Given the description of an element on the screen output the (x, y) to click on. 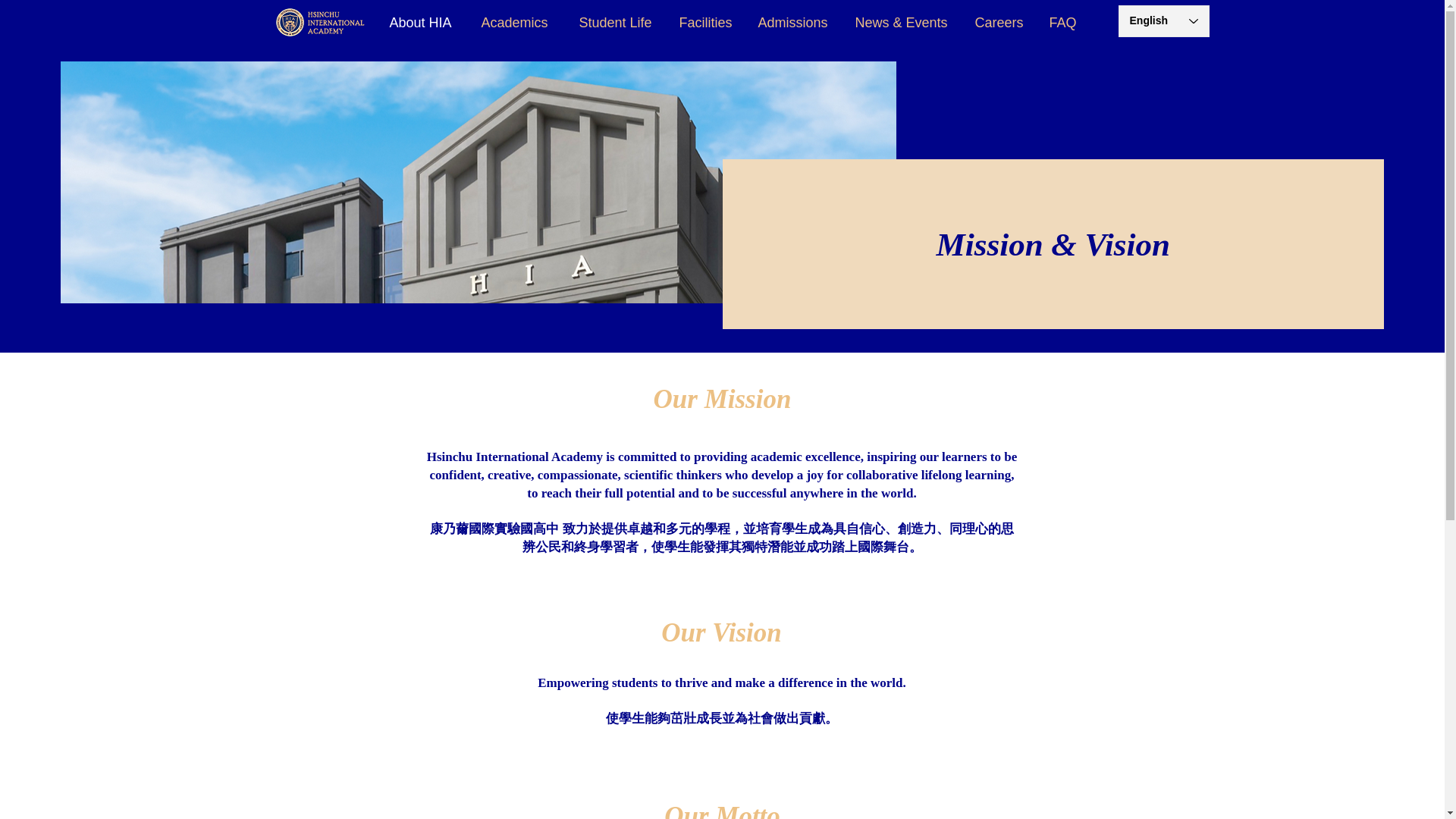
FAQ (1060, 22)
Careers (995, 22)
Admissions (790, 22)
Facilities (702, 22)
Student Life (611, 22)
Academics (511, 22)
About HIA (417, 22)
